Given the description of an element on the screen output the (x, y) to click on. 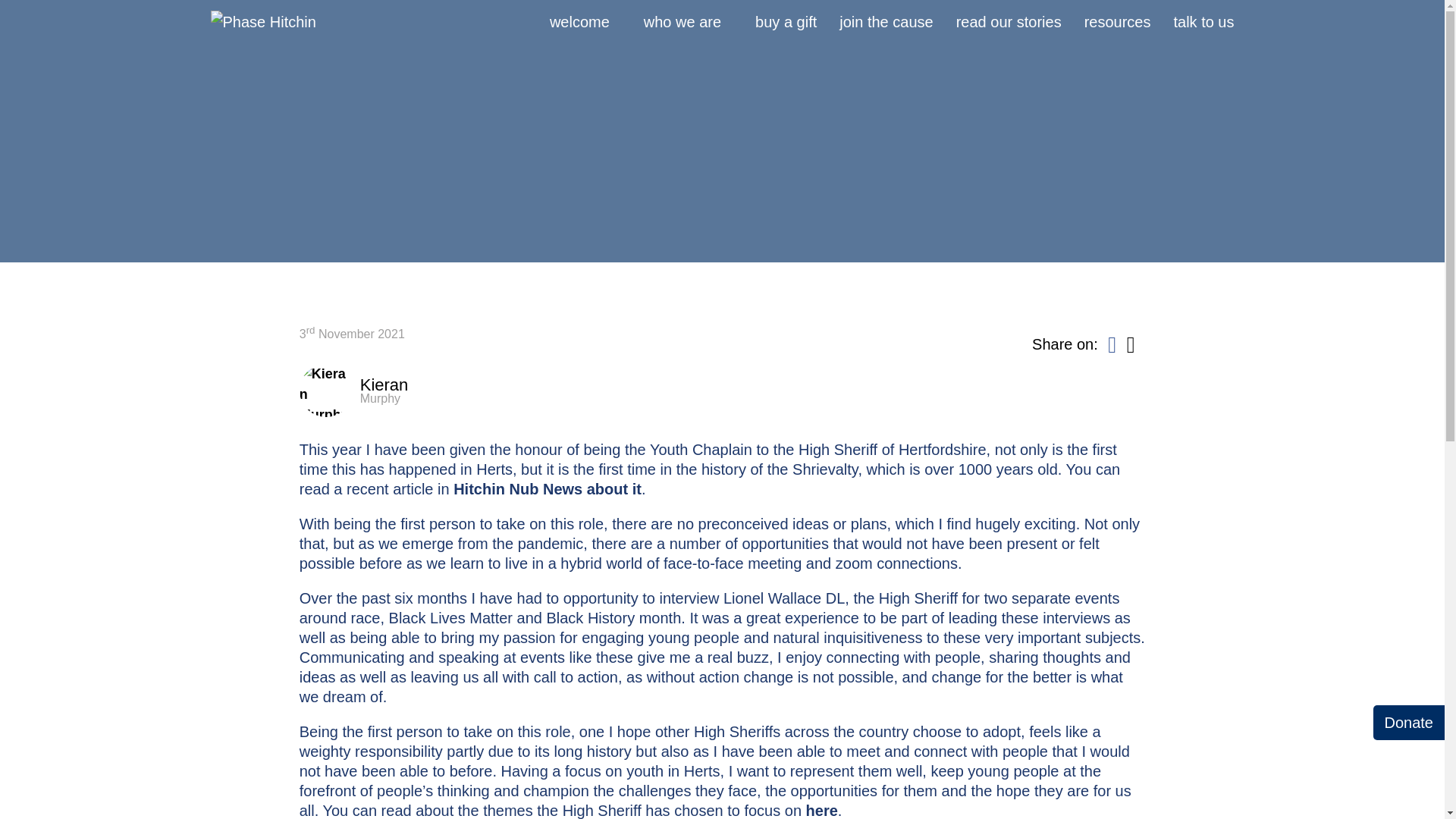
talk to us (1203, 22)
who we are (681, 22)
read our stories (1008, 22)
join the cause (886, 22)
Hitchin Nub News about it (547, 488)
here (822, 810)
buy a gift (785, 22)
welcome (580, 22)
resources (1117, 22)
